Given the description of an element on the screen output the (x, y) to click on. 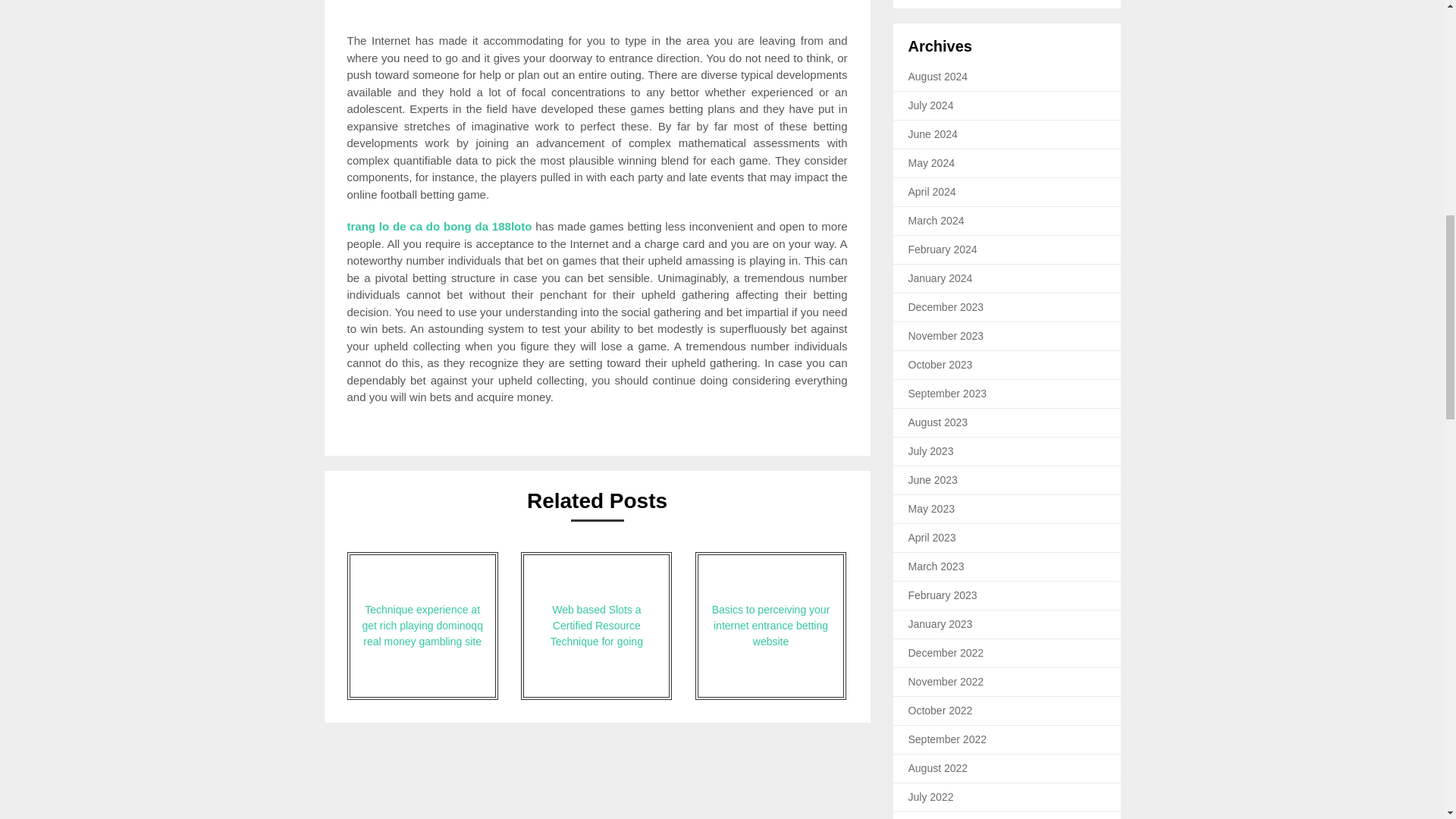
June 2024 (933, 133)
August 2023 (938, 422)
March 2024 (935, 220)
August 2024 (938, 76)
October 2023 (940, 364)
May 2024 (931, 162)
September 2023 (947, 393)
July 2023 (930, 451)
February 2023 (942, 594)
November 2023 (946, 336)
